Given the description of an element on the screen output the (x, y) to click on. 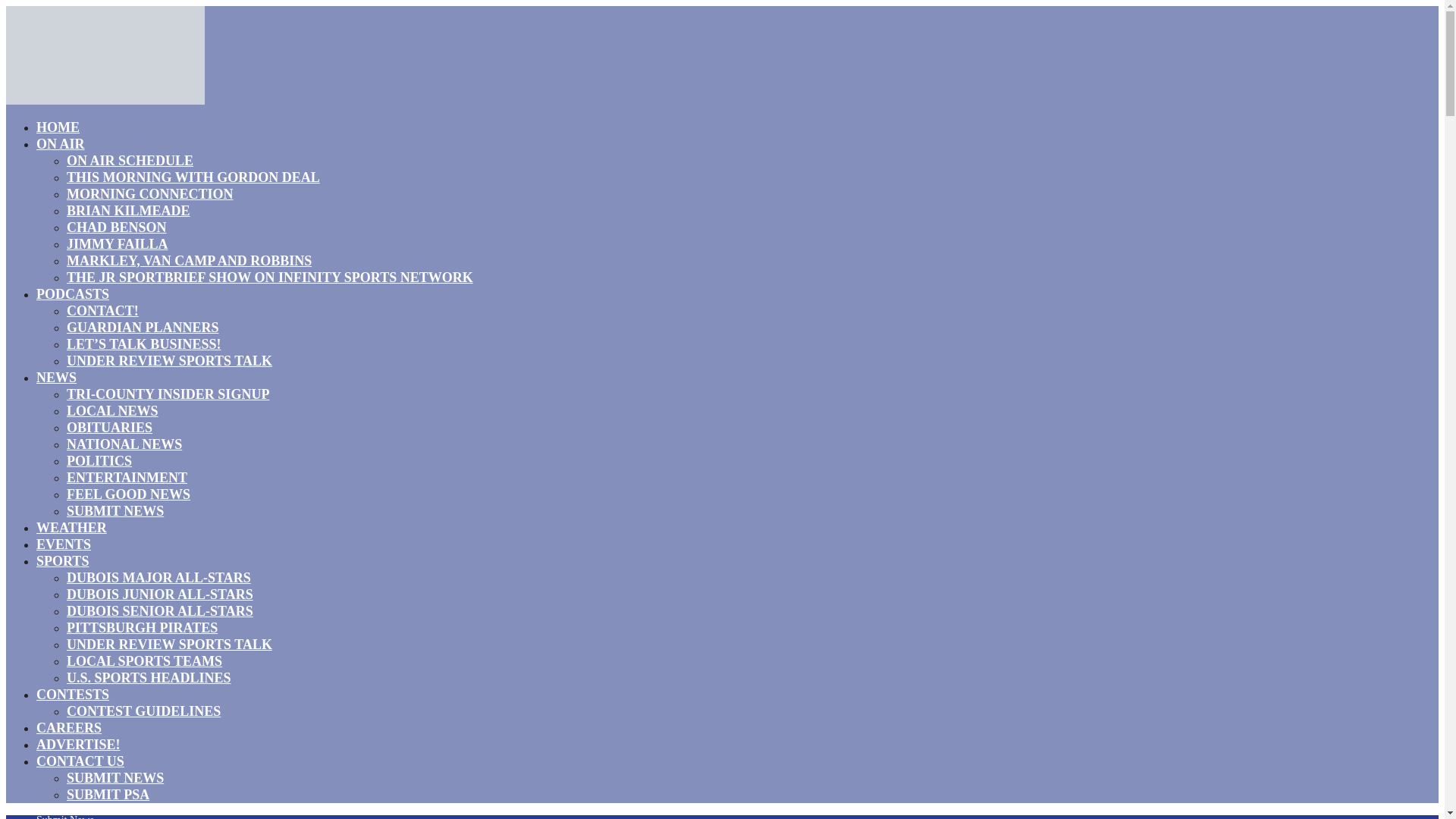
BRIAN KILMEADE (128, 210)
MARKLEY, VAN CAMP AND ROBBINS (188, 260)
CONTEST GUIDELINES (143, 711)
SUBMIT NEWS (114, 510)
POLITICS (99, 460)
CAREERS (68, 727)
JIMMY FAILLA (117, 243)
PODCASTS (72, 293)
FEEL GOOD NEWS (128, 494)
CONTACT! (102, 310)
SPORTS (62, 560)
OBITUARIES (109, 427)
UNDER REVIEW SPORTS TALK (169, 644)
PITTSBURGH PIRATES (141, 627)
ON AIR SCHEDULE (129, 160)
